Given the description of an element on the screen output the (x, y) to click on. 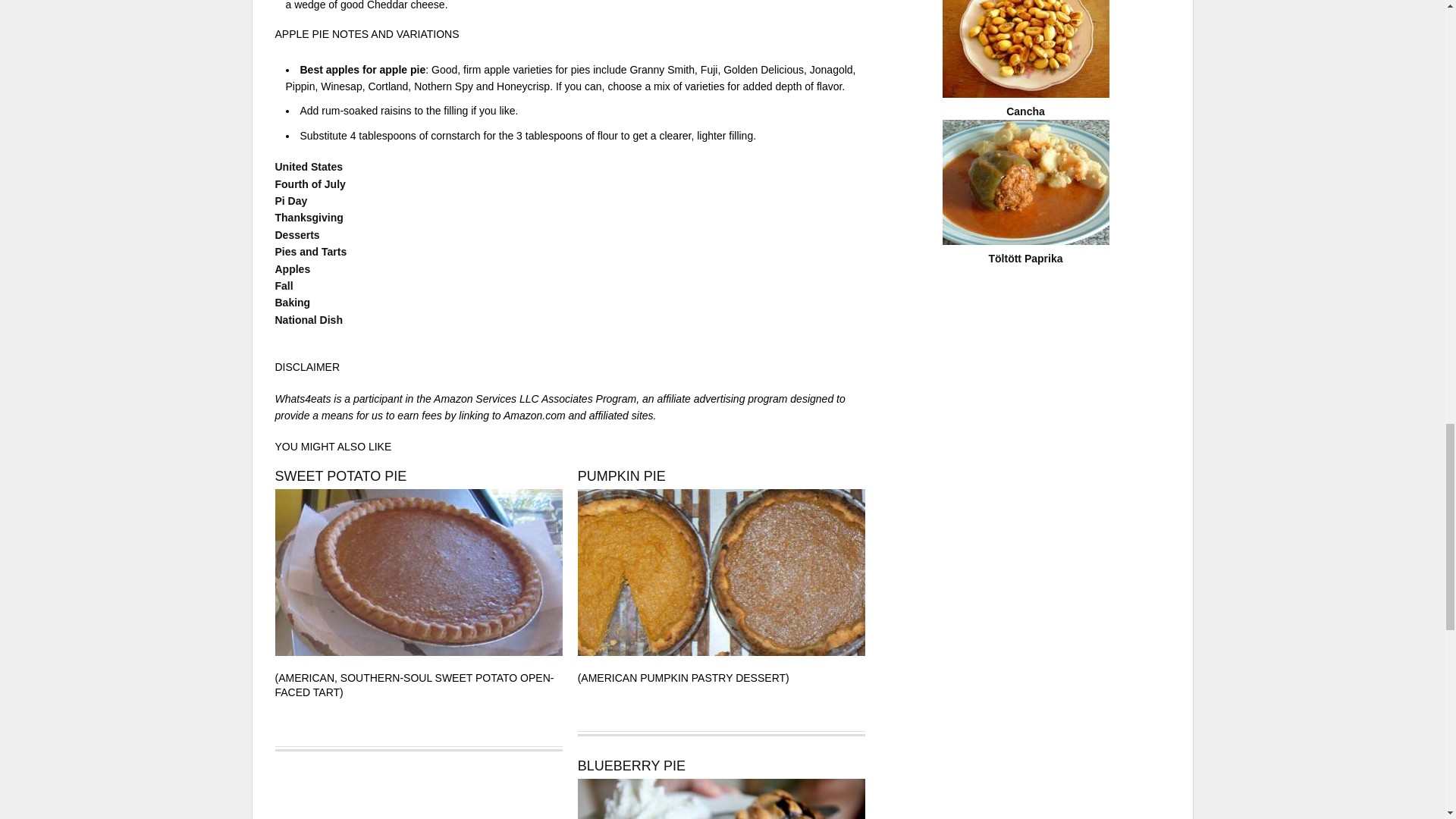
Desserts (296, 234)
Pi Day (291, 200)
Fall (283, 285)
Apples (292, 268)
Baking (292, 302)
SWEET POTATO PIE (340, 476)
United States (308, 166)
Pies and Tarts (310, 251)
Fourth of July (310, 184)
Thanksgiving (308, 217)
National Dish (308, 319)
